Given the description of an element on the screen output the (x, y) to click on. 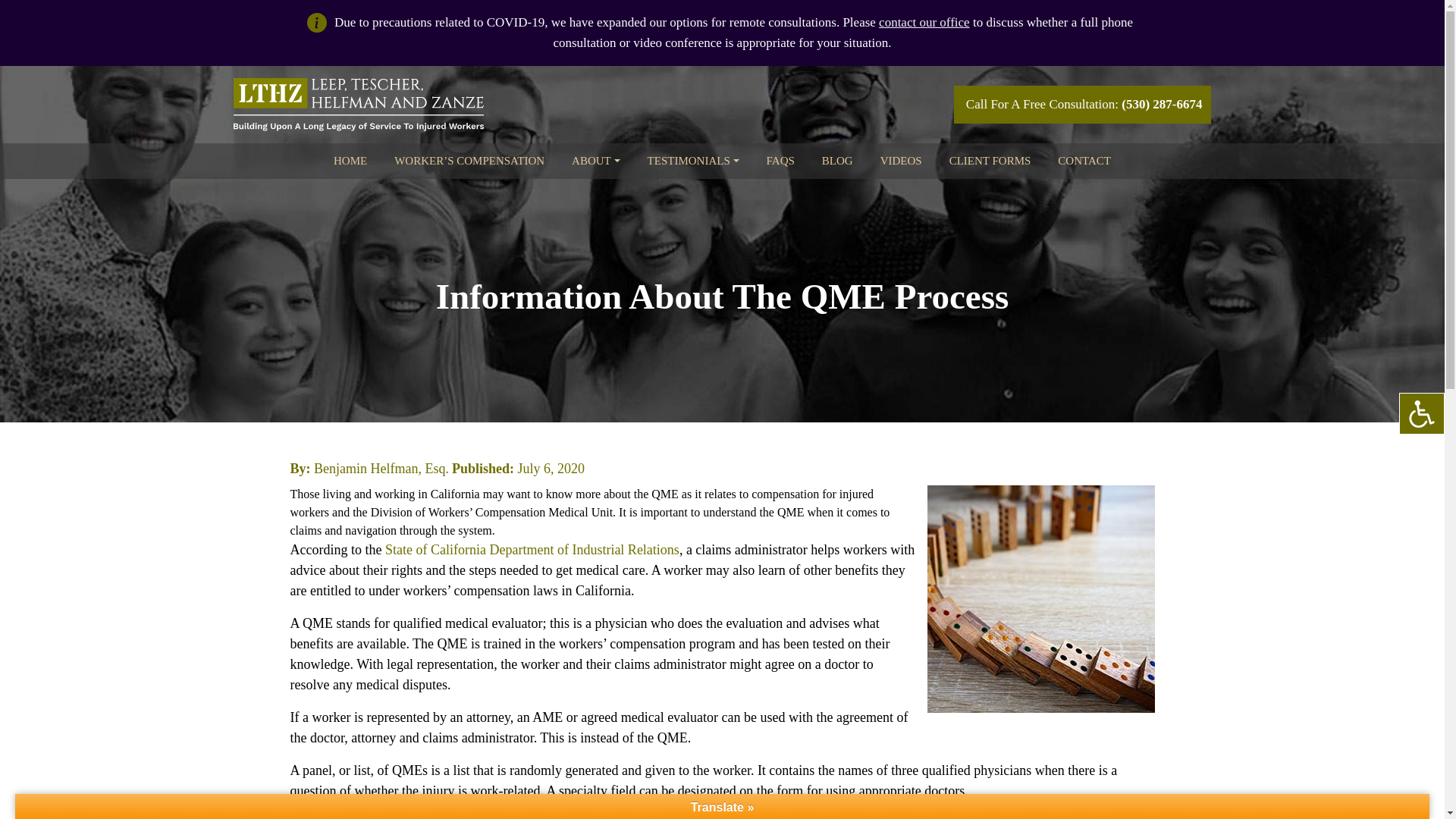
FAQS (780, 161)
CONTACT (1083, 161)
BLOG (837, 161)
CLIENT FORMS (989, 161)
HOME (349, 161)
TESTIMONIALS (693, 161)
contact our office (924, 22)
ABOUT (596, 161)
VIDEOS (901, 161)
